Given the description of an element on the screen output the (x, y) to click on. 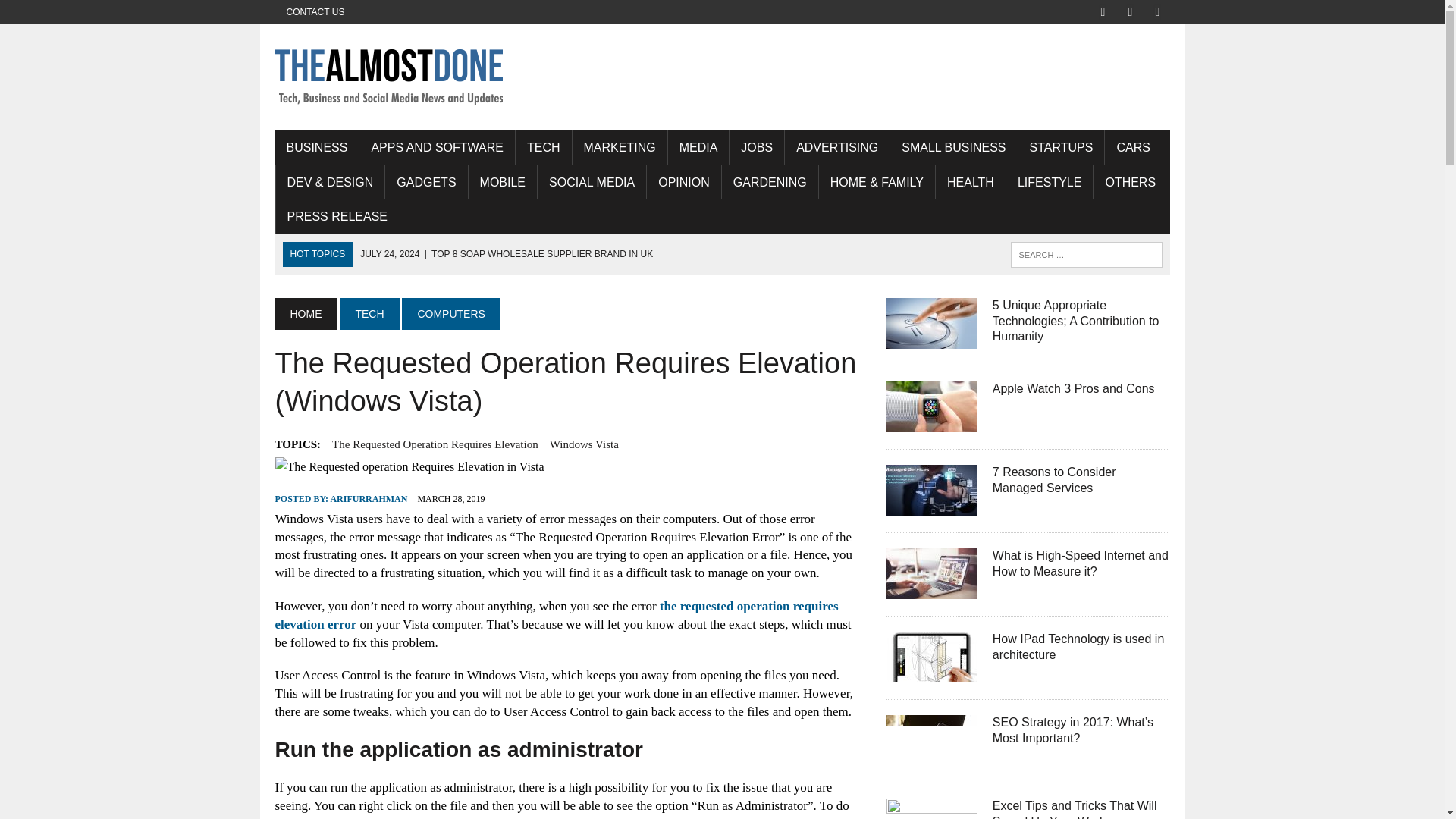
THEALMOSTDONE.com (722, 77)
PRESS RELEASE (337, 216)
GADGETS (426, 182)
MEDIA (698, 147)
HEALTH (971, 182)
MOBILE (502, 182)
OTHERS (1130, 182)
Apple Watch 3 Pros and Cons (931, 421)
BUSINESS (316, 147)
